Given the description of an element on the screen output the (x, y) to click on. 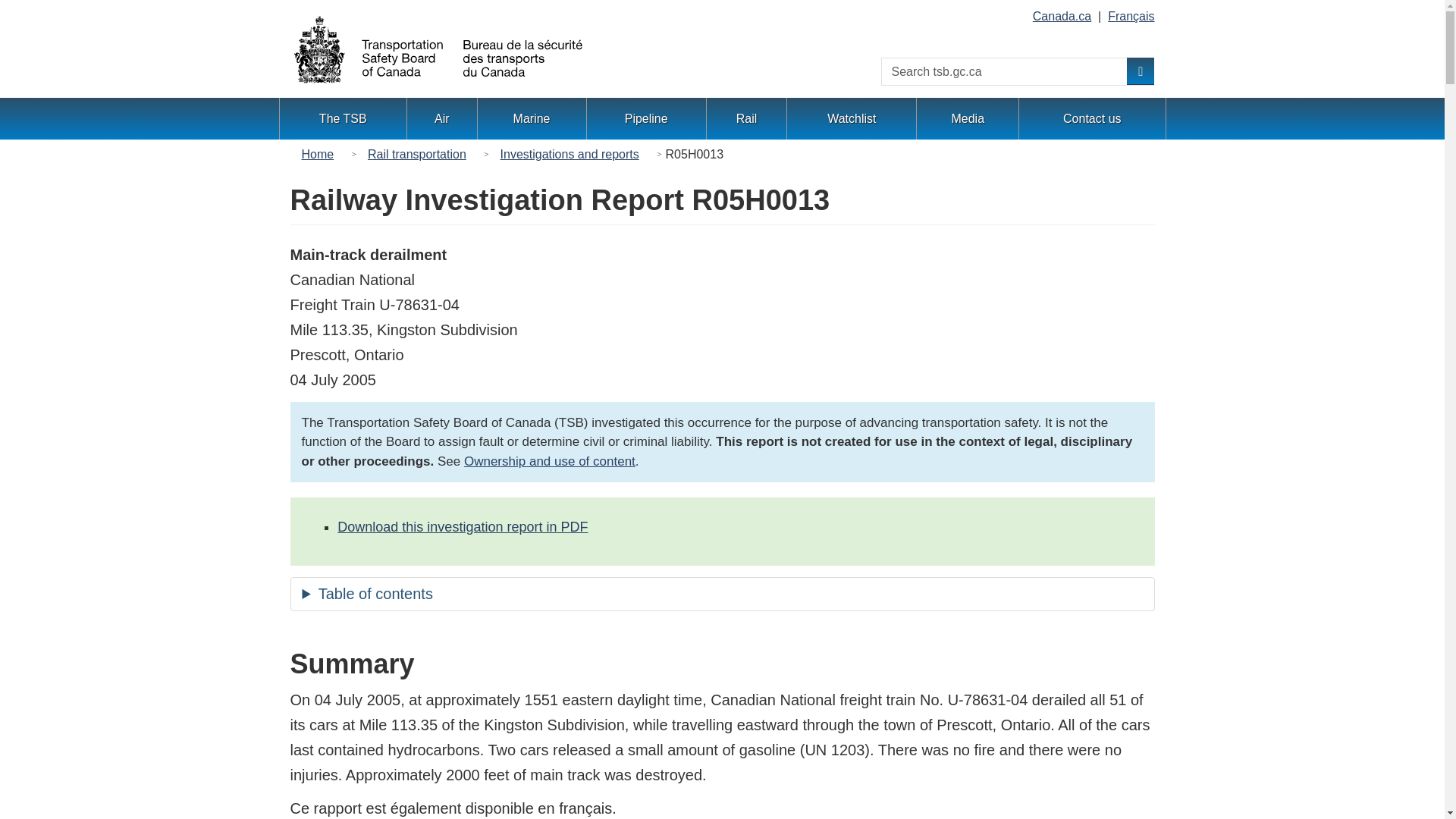
Rail transportation (416, 154)
Home (321, 154)
Air (441, 118)
Download this investigation report in PDF (462, 526)
Contact us (1091, 118)
Marine (531, 118)
Rail (746, 118)
Ownership and use of content (549, 461)
Watchlist (851, 118)
Skip to main content (13, 17)
Pipeline (646, 118)
Media (967, 118)
Investigations and reports (569, 154)
The TSB (342, 118)
Search (1140, 71)
